Given the description of an element on the screen output the (x, y) to click on. 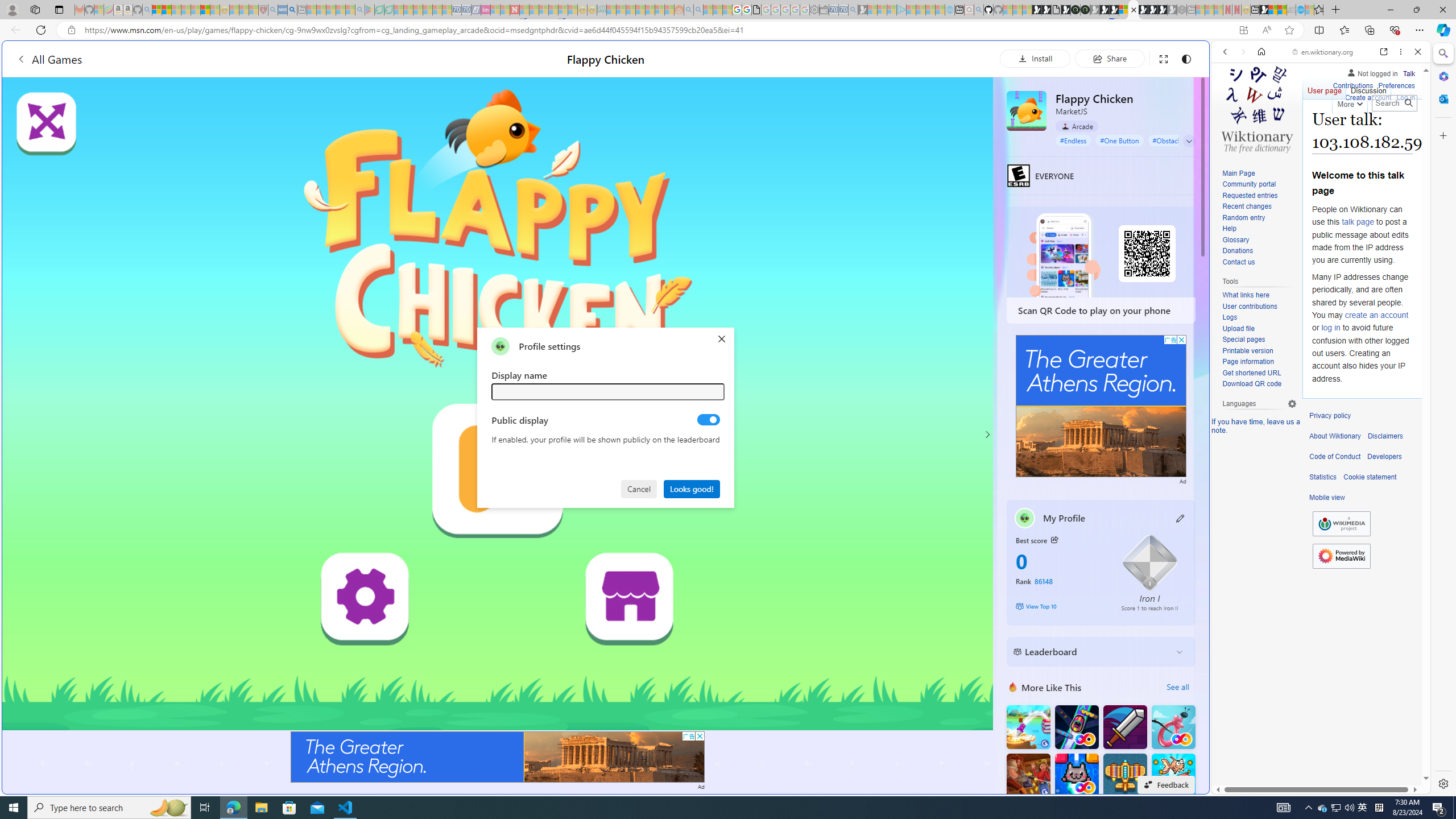
Random entry (1243, 216)
Class: b_serphb (1404, 130)
Search or enter web address (922, 108)
EVERYONE (1018, 175)
Powered by MediaWiki (1341, 555)
